Given the description of an element on the screen output the (x, y) to click on. 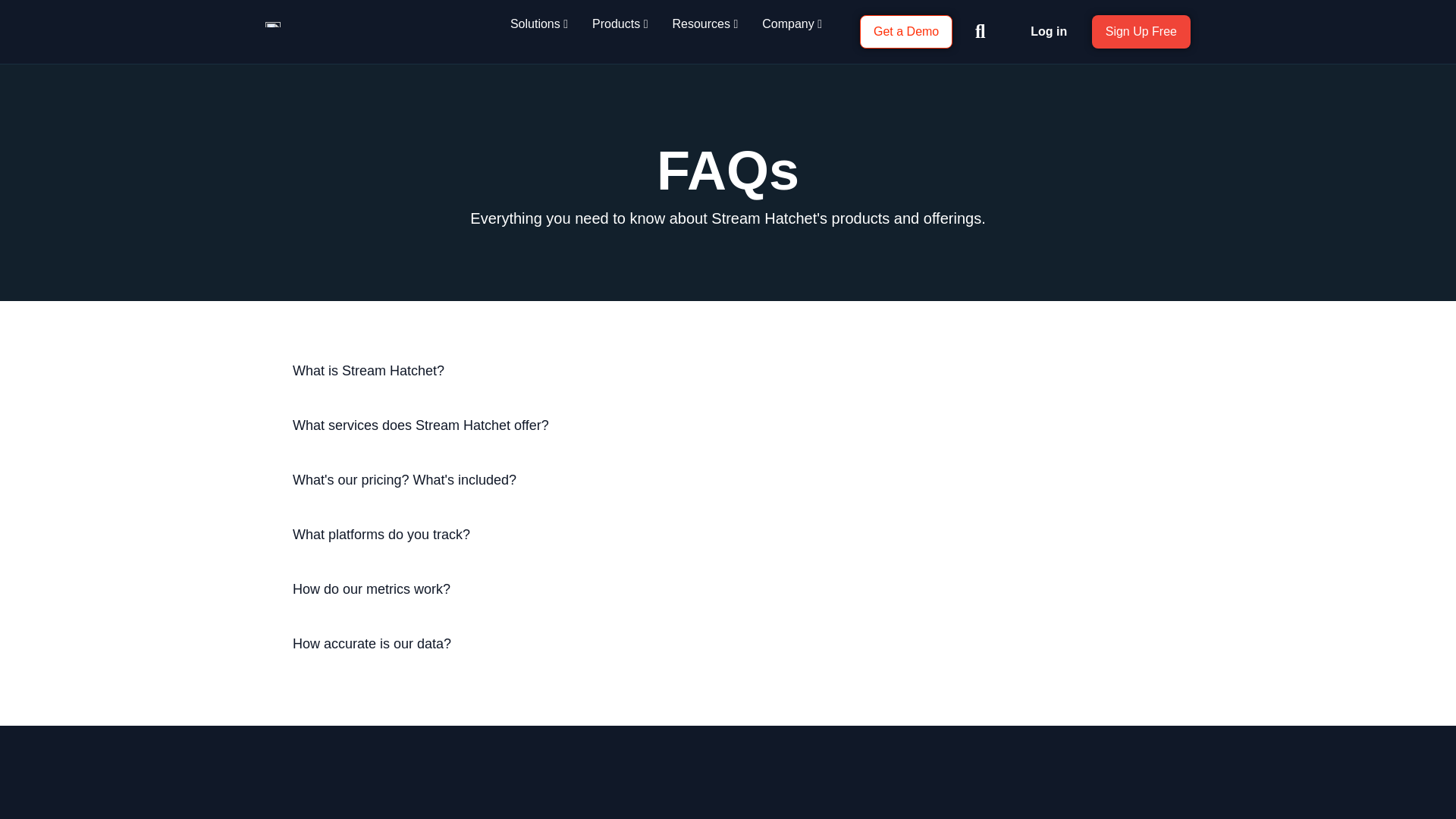
Sign Up Free (1141, 31)
Get a Demo (906, 31)
Company (791, 24)
Products (619, 24)
Log in (1048, 31)
Resources (704, 24)
Solutions (539, 24)
